Given the description of an element on the screen output the (x, y) to click on. 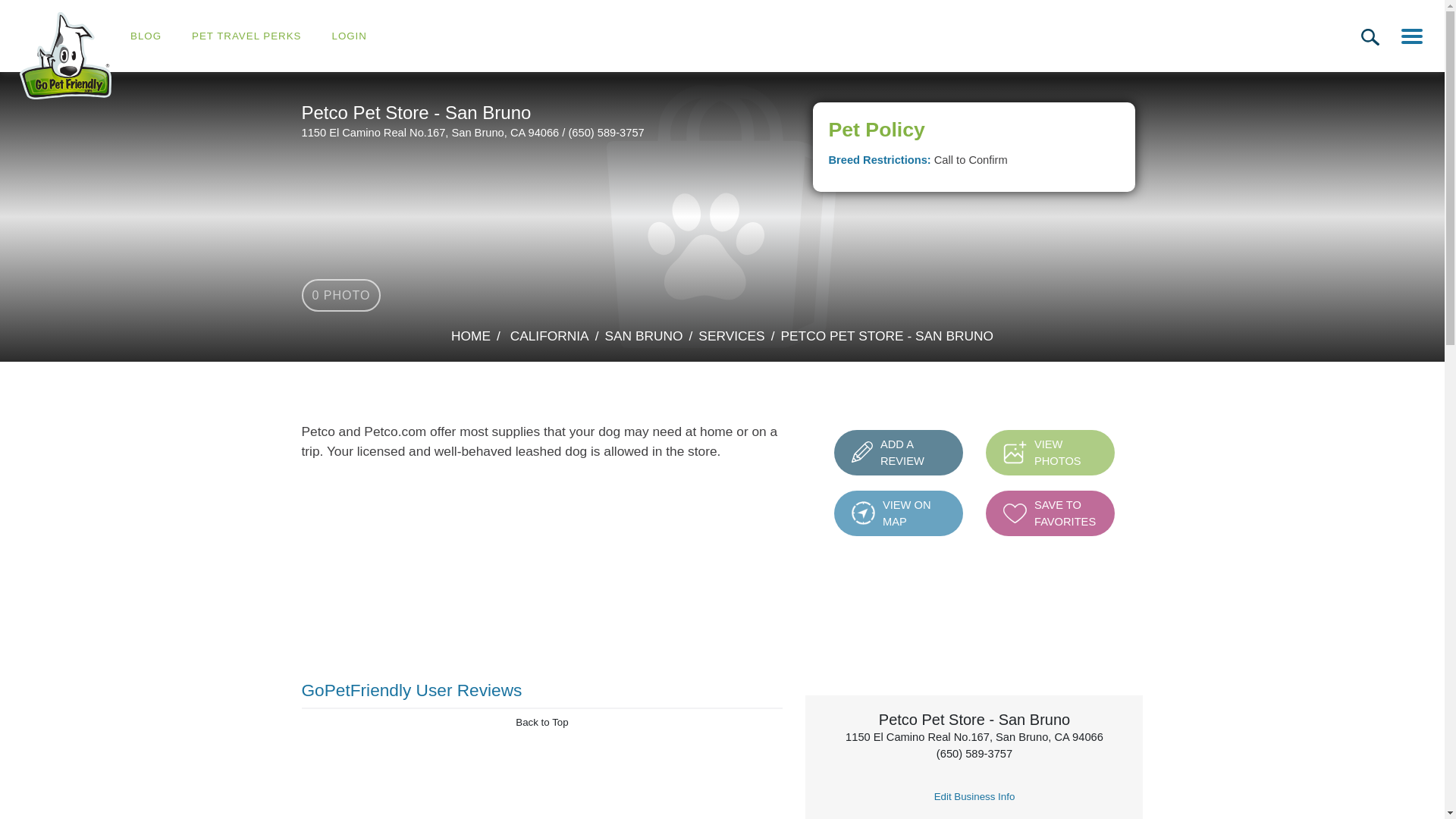
SAN BRUNO (898, 513)
Search (643, 335)
Edit Business Info (1369, 36)
GoPetFriendly - Do More Together (974, 796)
favorite (66, 55)
BLOG (1014, 513)
SERVICES (146, 35)
